Given the description of an element on the screen output the (x, y) to click on. 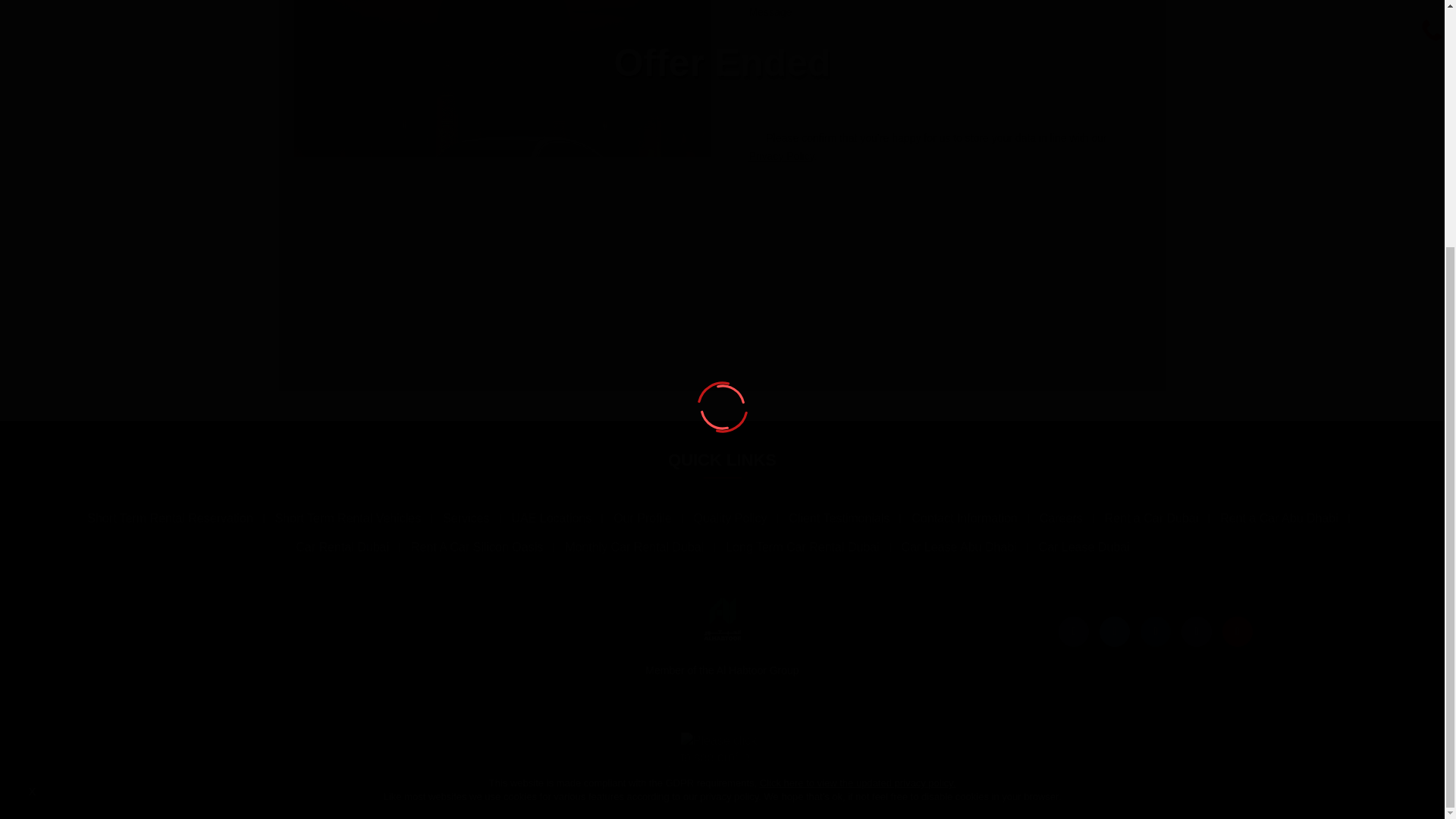
Short Term Rental Reservation (169, 517)
Our Profile (641, 517)
Send (1088, 192)
on (753, 138)
Send (1088, 192)
UAE Locations (551, 517)
Services (465, 517)
Quality Policy (730, 517)
